Given the description of an element on the screen output the (x, y) to click on. 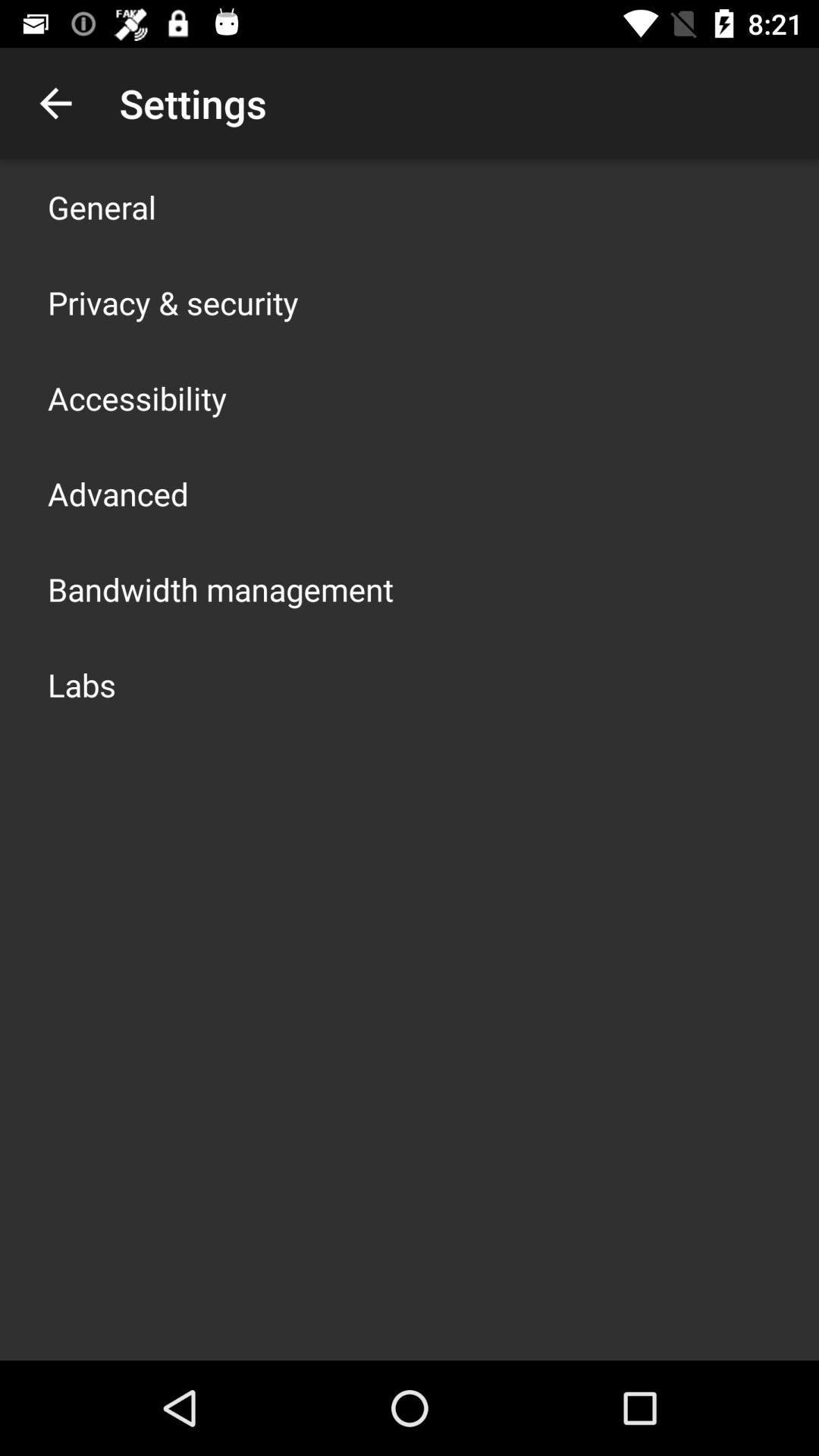
open the icon next to settings icon (55, 103)
